Given the description of an element on the screen output the (x, y) to click on. 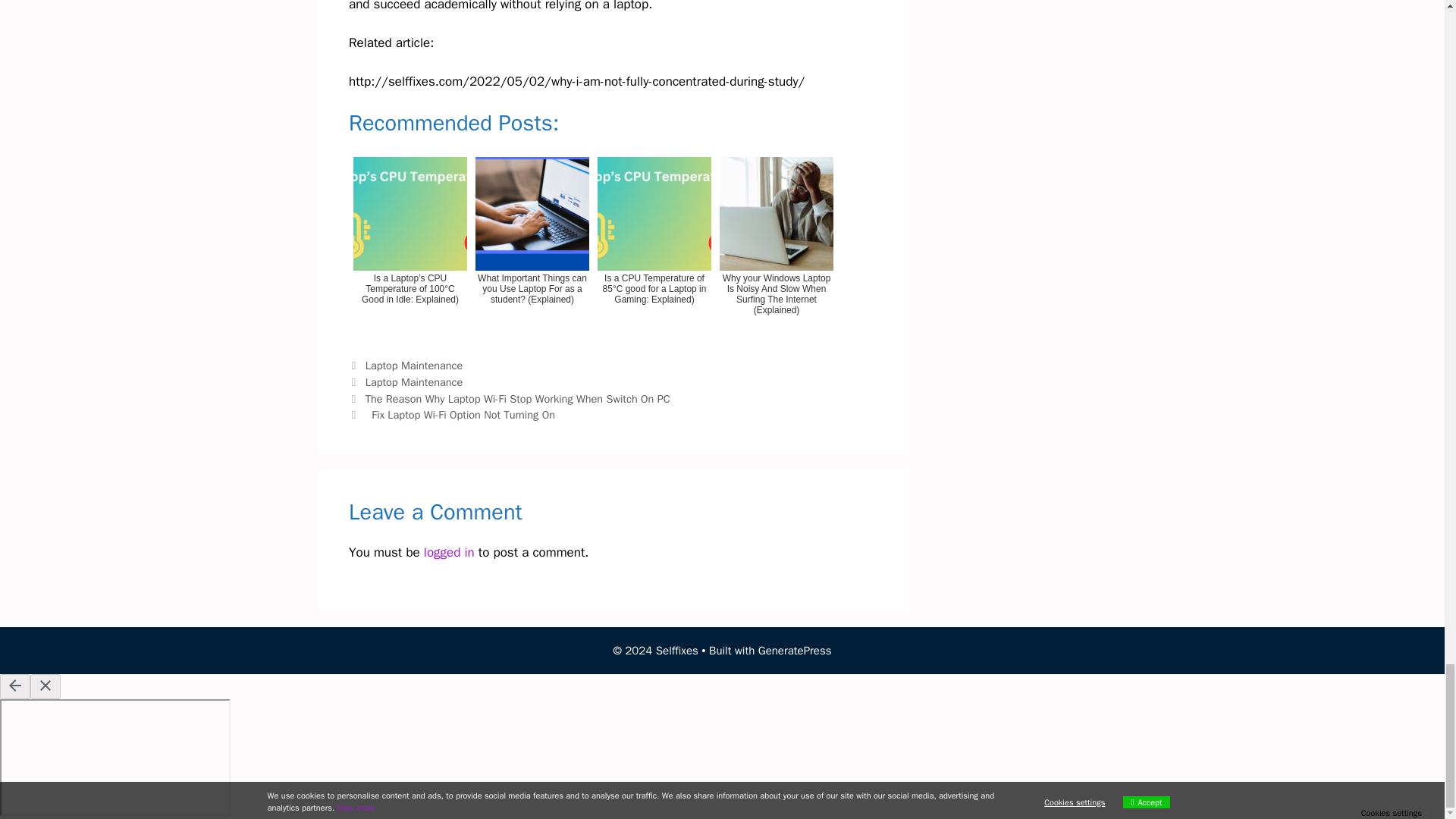
The Reason Why Laptop Wi-Fi Stop Working When Switch On PC  (518, 398)
Laptop Maintenance (414, 382)
Laptop Maintenance (414, 365)
  Fix Laptop Wi-Fi Option Not Turning On  (462, 414)
logged in (448, 552)
